Given the description of an element on the screen output the (x, y) to click on. 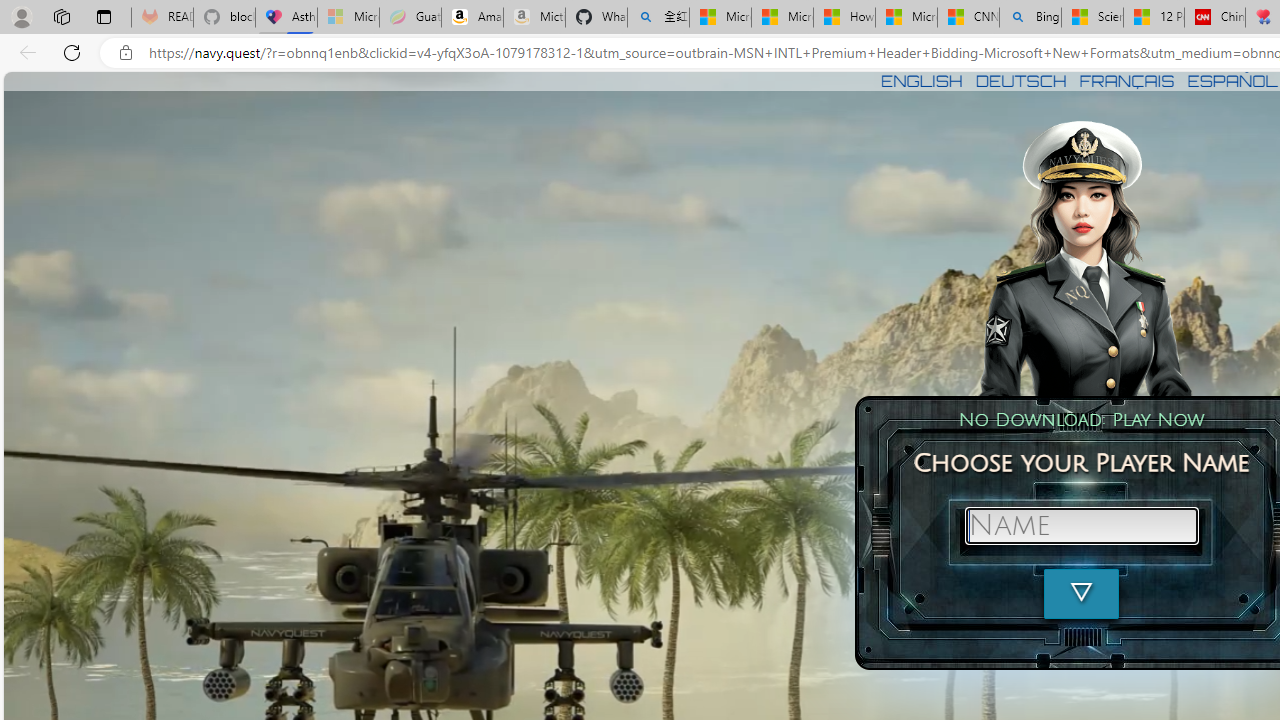
12 Popular Science Lies that Must be Corrected (1153, 17)
Asthma Inhalers: Names and Types (286, 17)
ENGLISH (921, 80)
DEUTSCH (1021, 80)
How I Got Rid of Microsoft Edge's Unnecessary Features (844, 17)
Bing (1030, 17)
